Given the description of an element on the screen output the (x, y) to click on. 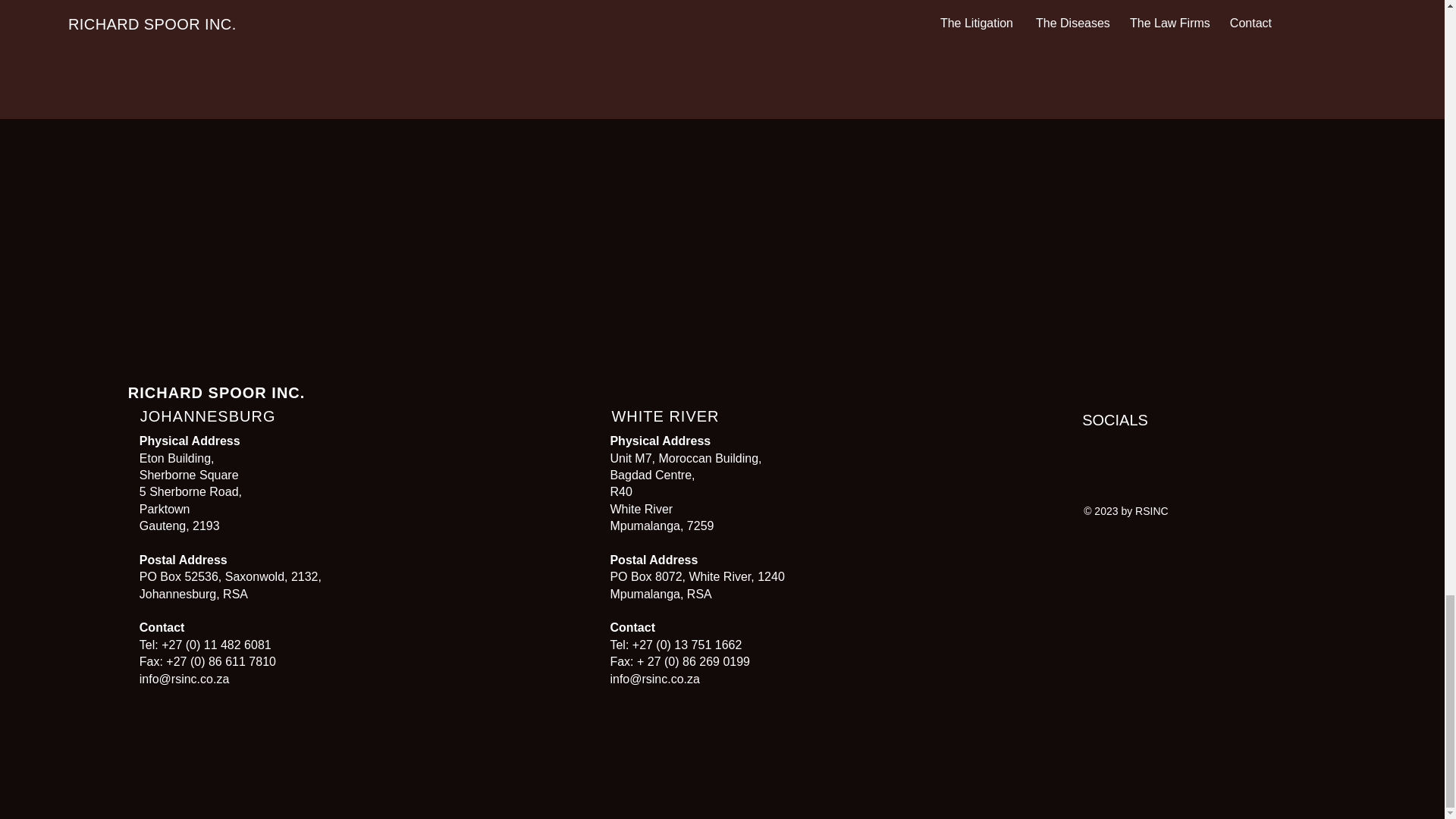
RICHARD SPOOR INC. (216, 392)
WHITE RIVER (665, 416)
JOHANNESBURG (207, 416)
